Given the description of an element on the screen output the (x, y) to click on. 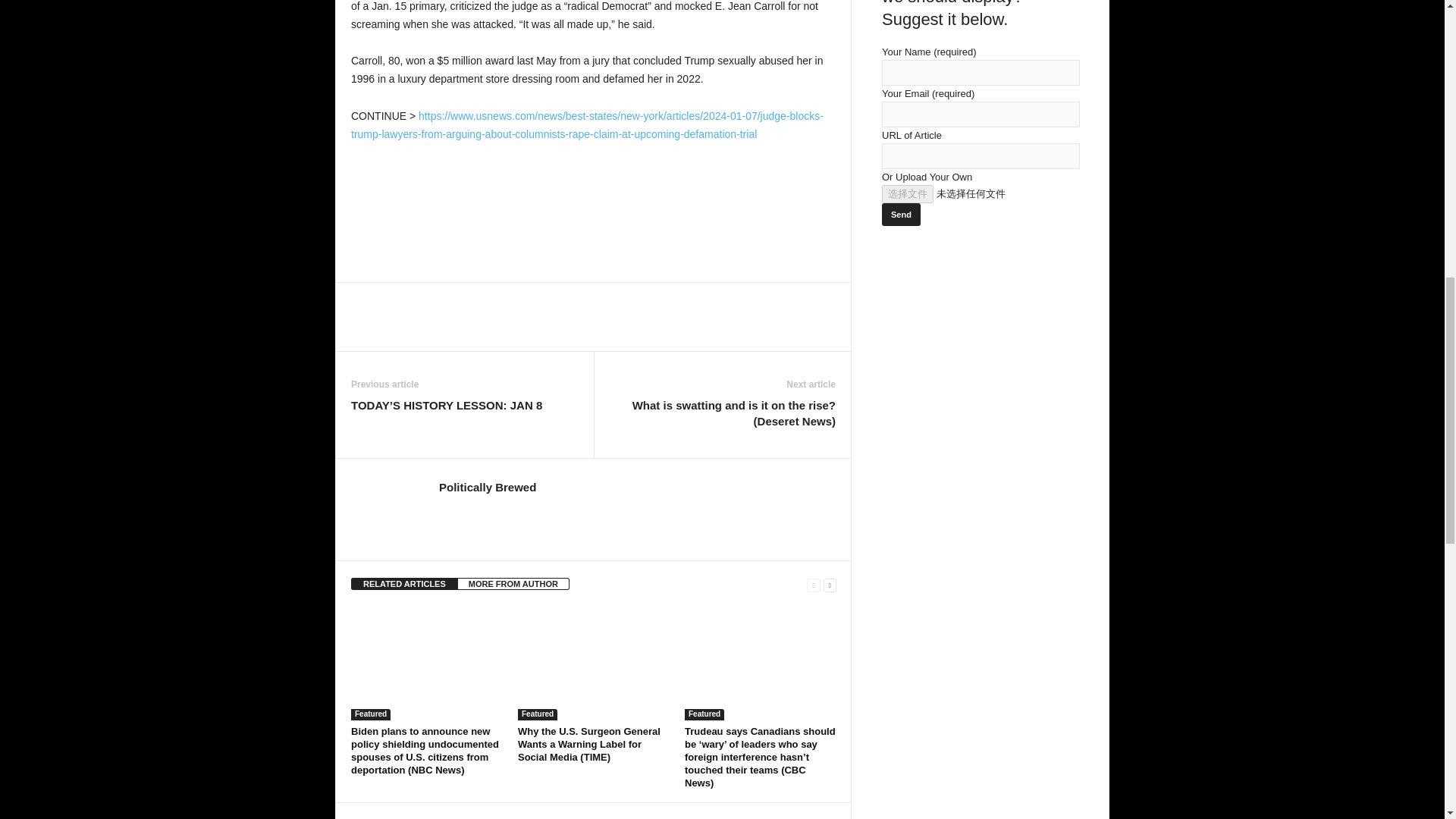
Send (901, 214)
